Given the description of an element on the screen output the (x, y) to click on. 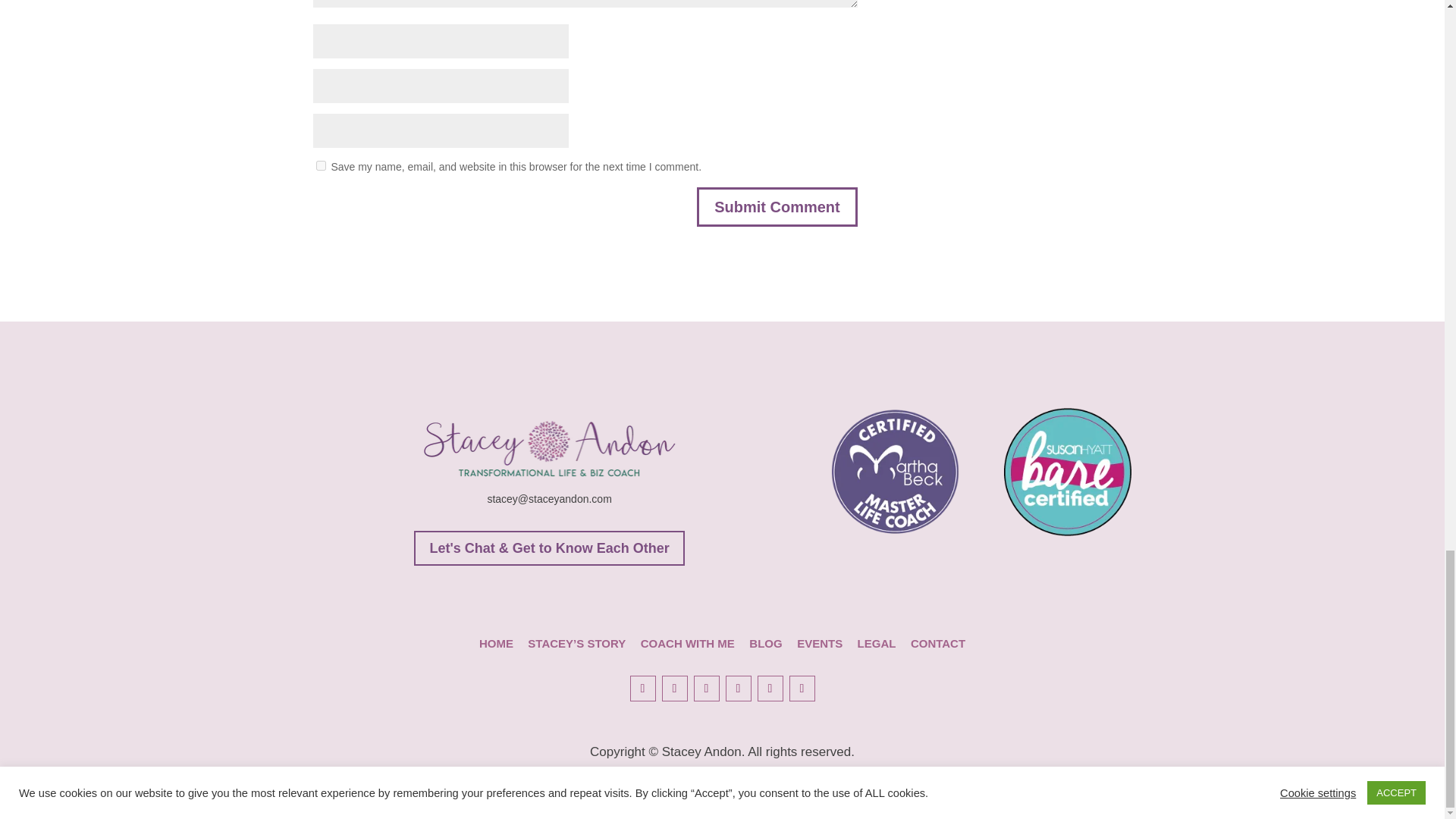
Follow on LinkedIn (738, 688)
Follow on Facebook (641, 688)
Follow on Instagram (674, 688)
Stacey Andon Logo (549, 448)
Submit Comment (777, 206)
Follow on Spotify (801, 688)
Follow on Pinterest (706, 688)
Follow on Youtube (770, 688)
yes (319, 165)
